Given the description of an element on the screen output the (x, y) to click on. 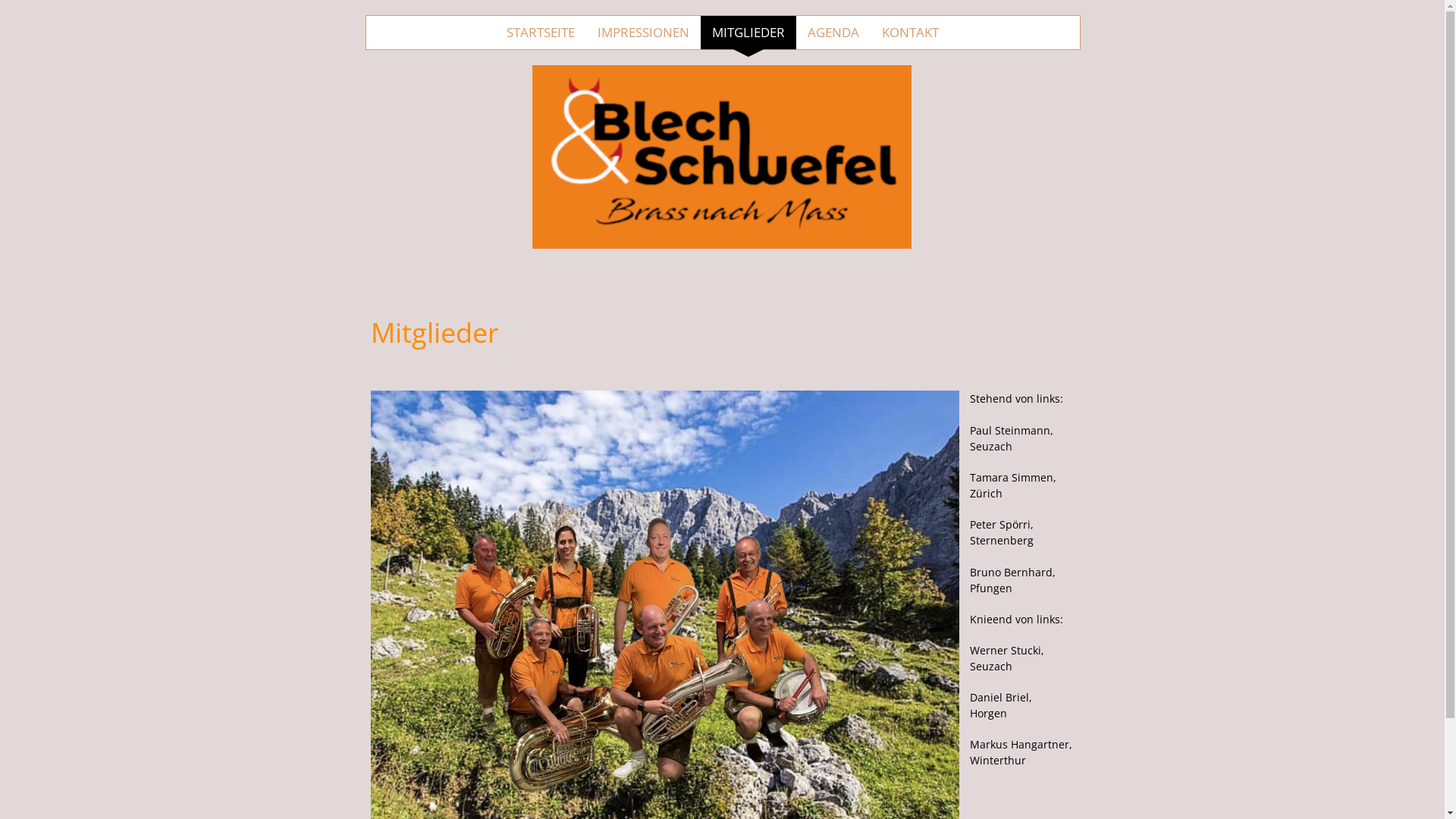
KONTAKT Element type: text (910, 32)
IMPRESSIONEN Element type: text (643, 32)
AGENDA Element type: text (833, 32)
MITGLIEDER Element type: text (748, 32)
STARTSEITE Element type: text (540, 32)
